Given the description of an element on the screen output the (x, y) to click on. 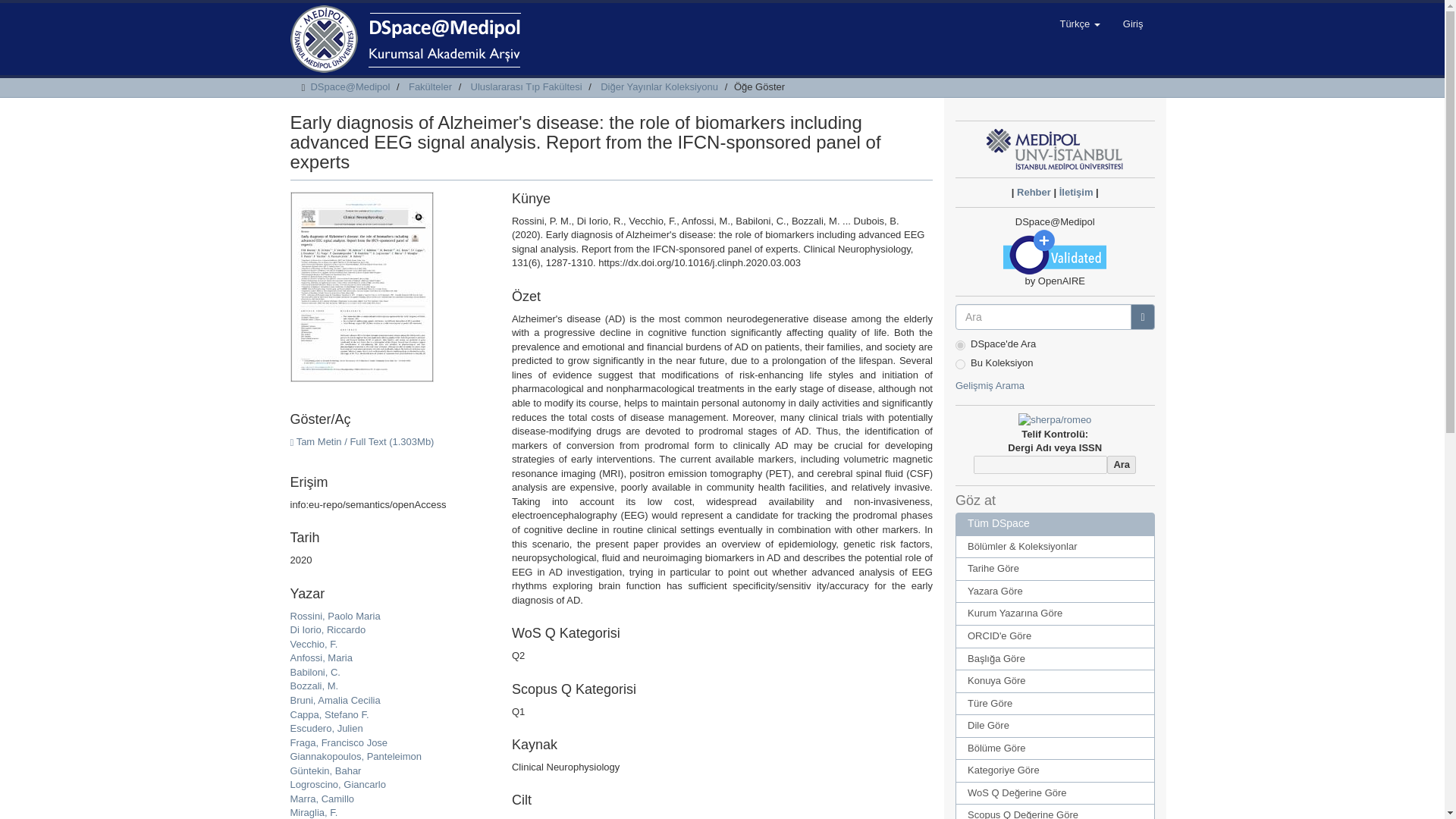
Giannakopoulos, Panteleimon (354, 756)
Vecchio, F. (313, 644)
Cappa, Stefano F. (328, 714)
Miraglia, F. (313, 812)
Logroscino, Giancarlo (337, 784)
Rossini, Paolo Maria (334, 615)
Bozzali, M. (313, 685)
Ara (1120, 465)
Fraga, Francisco Jose (338, 742)
Marra, Camillo (321, 798)
